Given the description of an element on the screen output the (x, y) to click on. 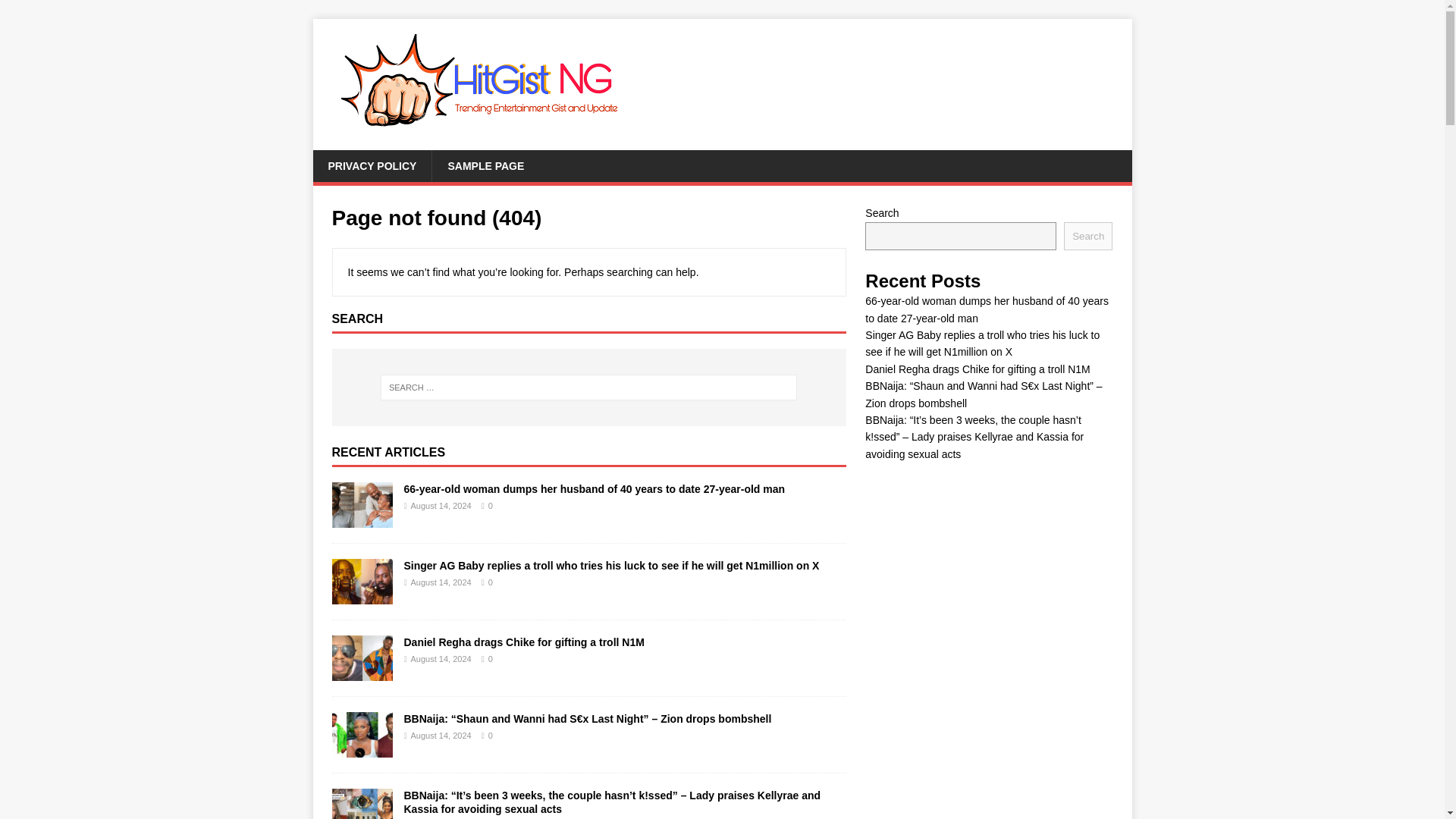
SAMPLE PAGE (484, 165)
Daniel Regha drags Chike for gifting a troll N1M (976, 369)
Search (56, 11)
Daniel Regha drags Chike for gifting a troll N1M (523, 642)
